Given the description of an element on the screen output the (x, y) to click on. 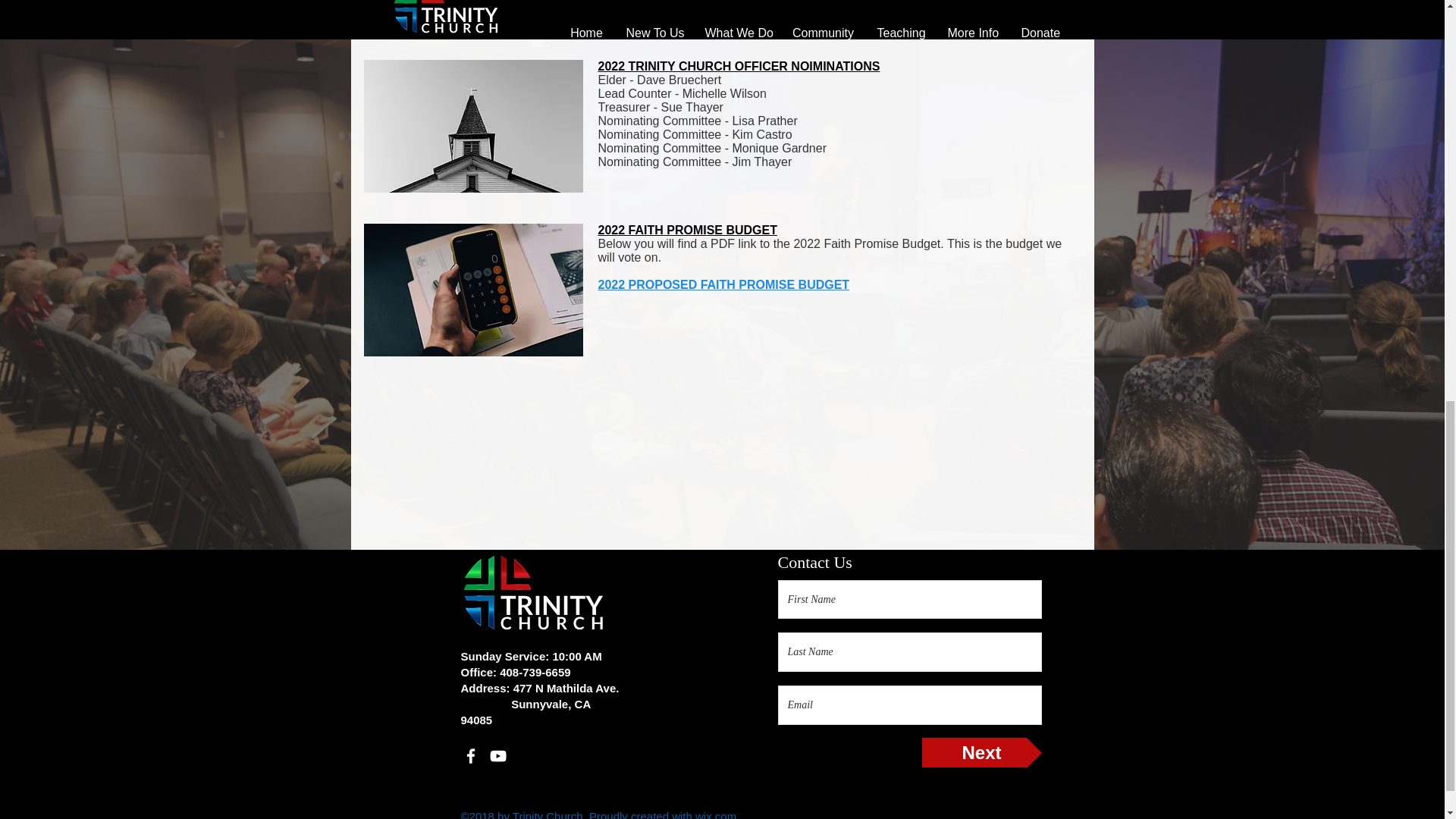
wix.com (715, 814)
2022 PROPOSED FAITH PROMISE BUDGET (722, 284)
2022 ANNUAL ELECTIONS BALLOT (699, 12)
Next (981, 752)
